Given the description of an element on the screen output the (x, y) to click on. 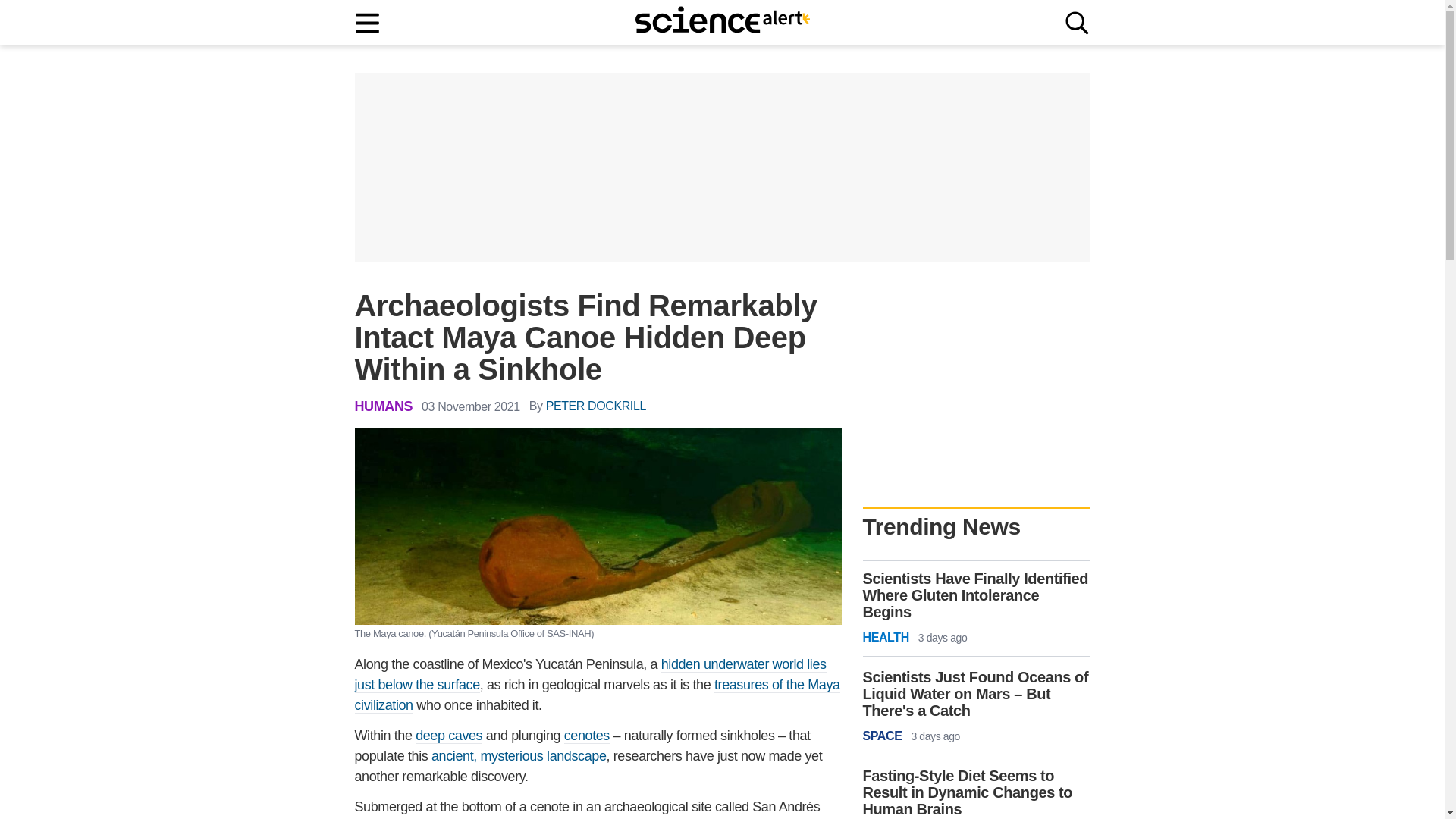
treasures of the Maya civilization (597, 695)
ancient, mysterious landscape (518, 756)
deep caves (447, 735)
cenotes (587, 735)
PETER DOCKRILL (596, 405)
hidden underwater world lies just below the surface (591, 674)
HUMANS (384, 406)
